Given the description of an element on the screen output the (x, y) to click on. 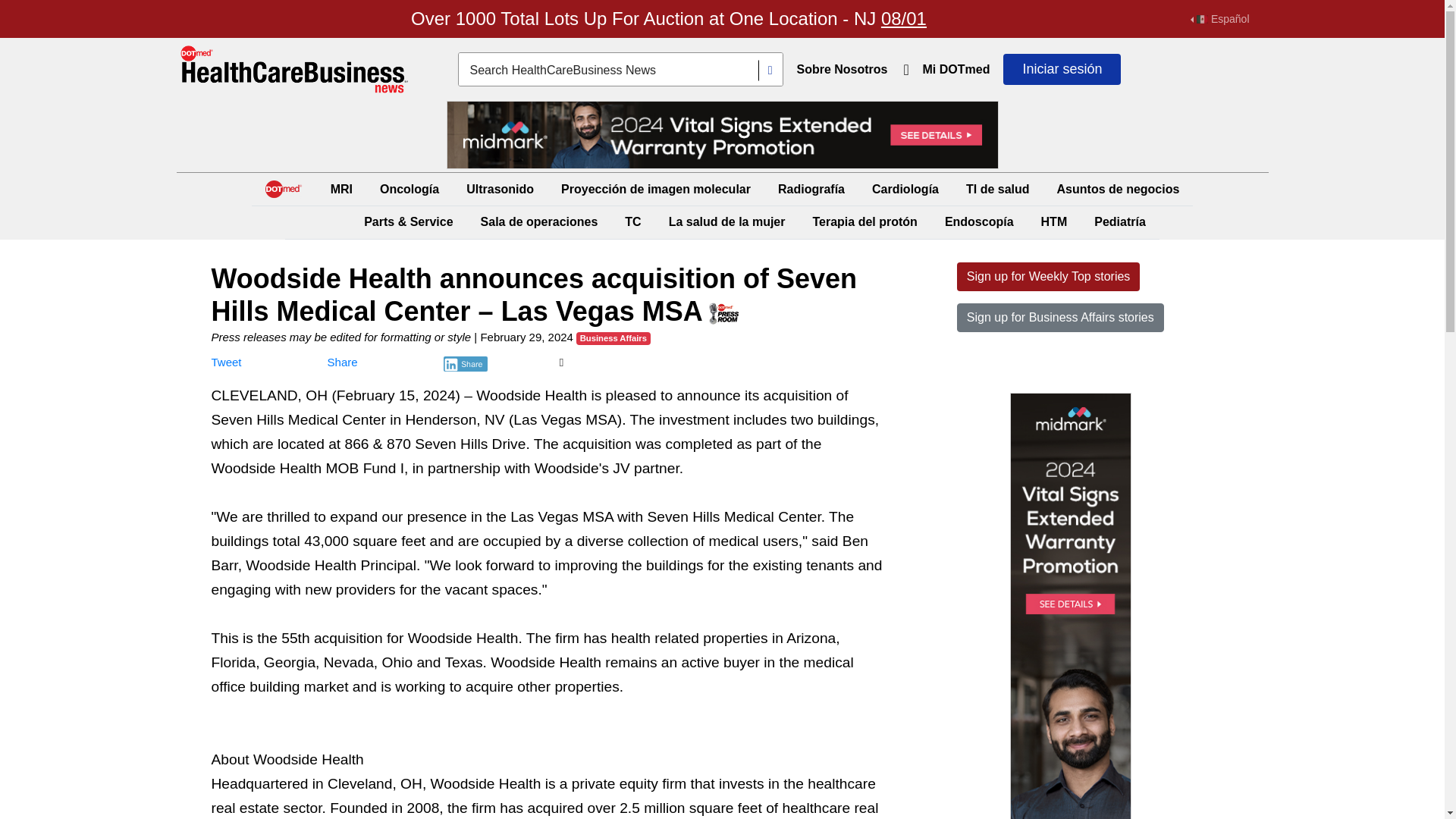
TI de salud (997, 188)
La salud de la mujer (727, 221)
Sobre Nosotros (841, 69)
DOTmed News (293, 69)
Mi DOTmed (956, 69)
Sala de operaciones (539, 221)
Ultrasonido (500, 188)
TC (632, 221)
Asuntos de negocios (1118, 188)
MRI (341, 188)
